Given the description of an element on the screen output the (x, y) to click on. 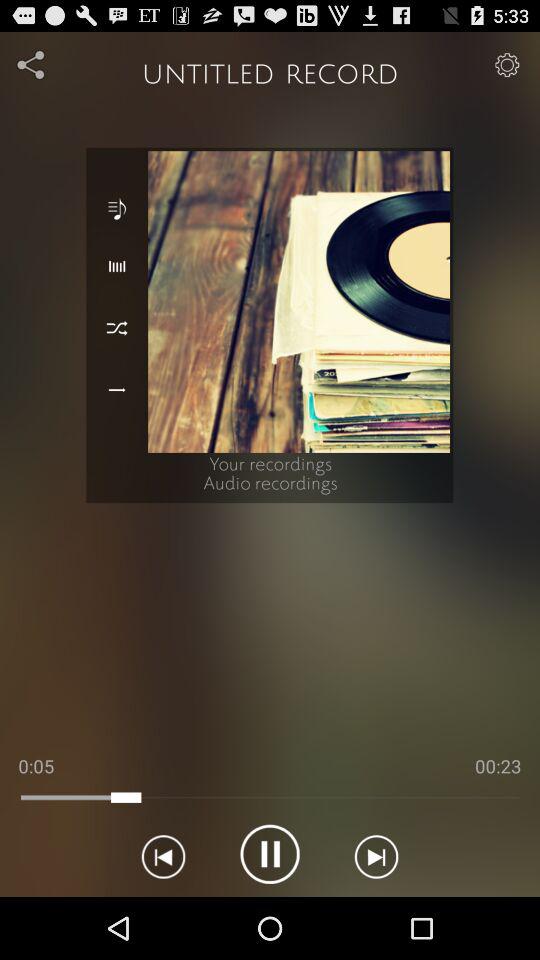
settings (506, 64)
